Given the description of an element on the screen output the (x, y) to click on. 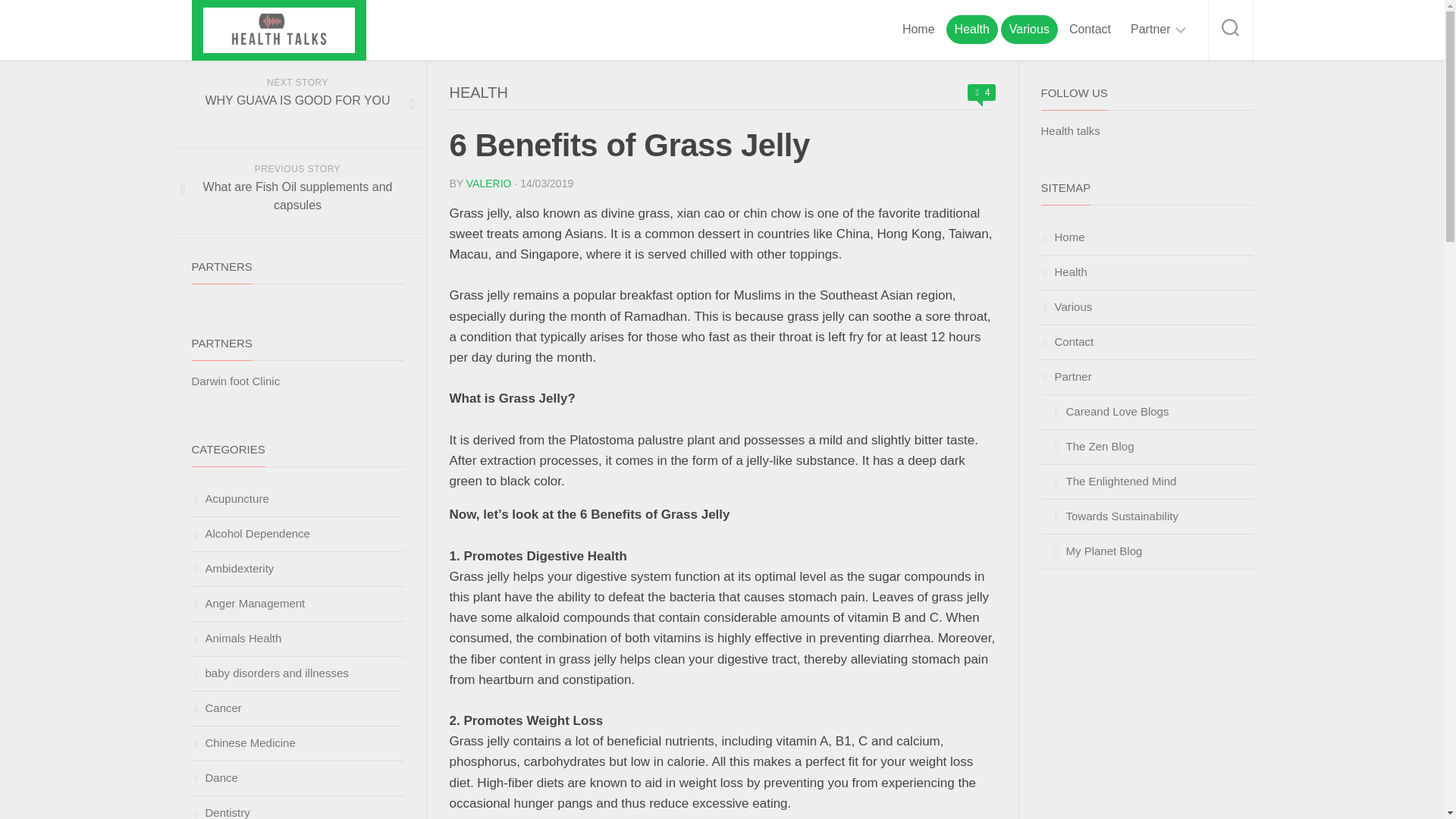
Contact (1089, 29)
VALERIO (488, 183)
Health (972, 29)
Various (1029, 29)
Posts by Valerio (488, 183)
Home (918, 29)
4 (981, 92)
Partner (1150, 29)
HEALTH (477, 92)
